Given the description of an element on the screen output the (x, y) to click on. 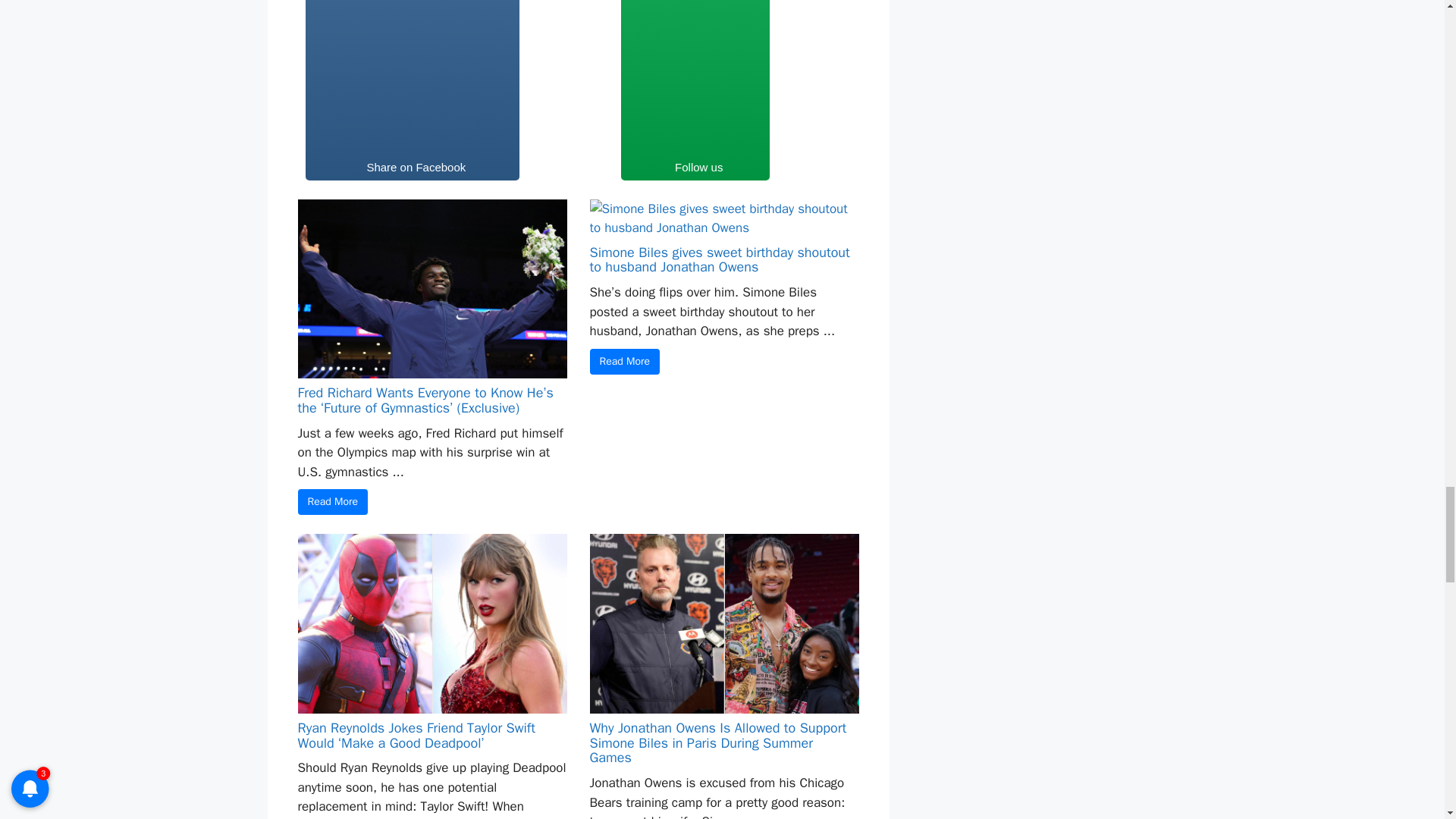
Read More (332, 501)
Advertisement (412, 77)
Tweet (569, 90)
Advertisement (695, 77)
Follow us (695, 90)
Save (818, 90)
Read More (625, 361)
Share on Facebook (411, 90)
